Given the description of an element on the screen output the (x, y) to click on. 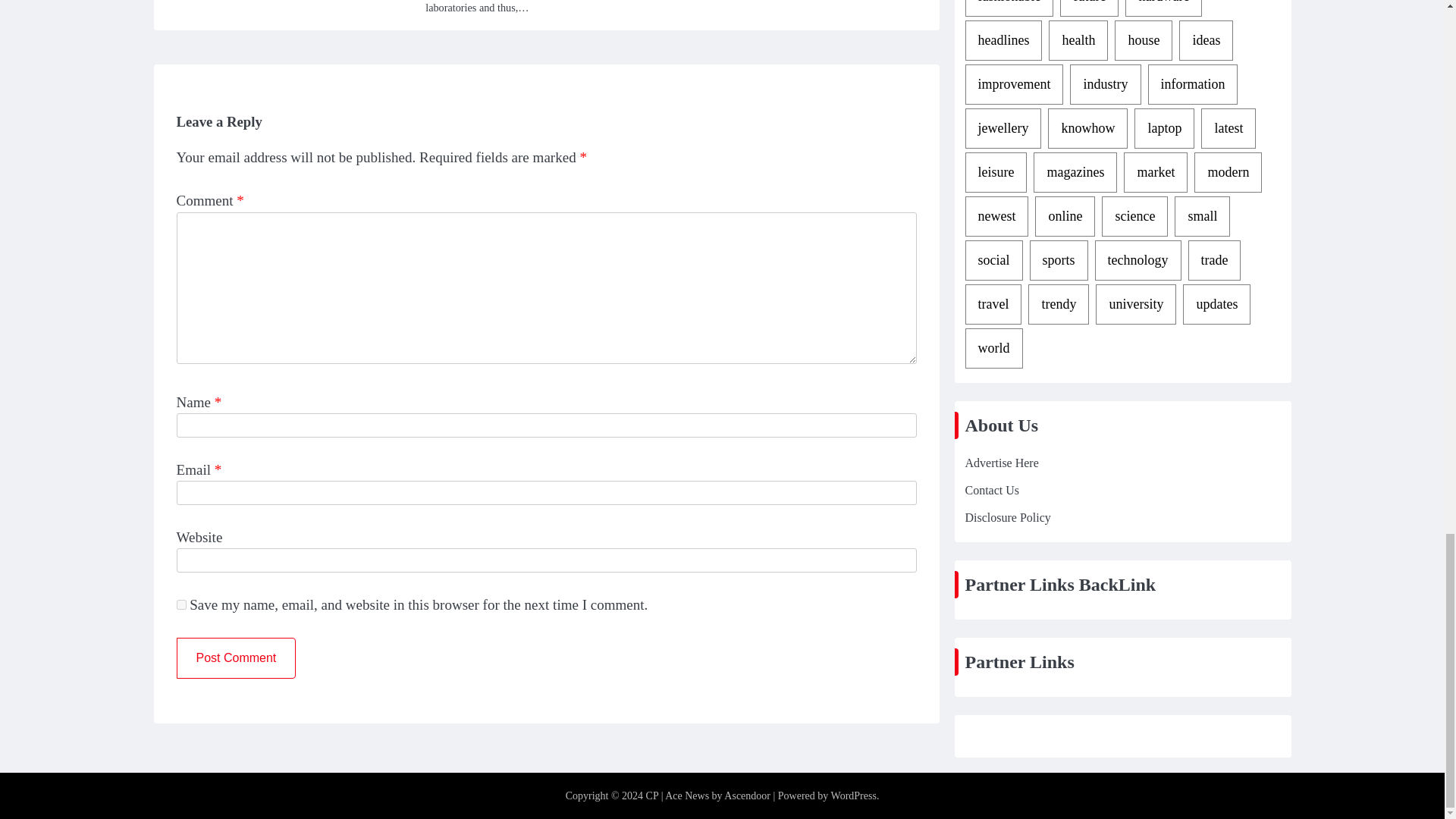
Post Comment (235, 658)
yes (181, 604)
Post Comment (235, 658)
